Given the description of an element on the screen output the (x, y) to click on. 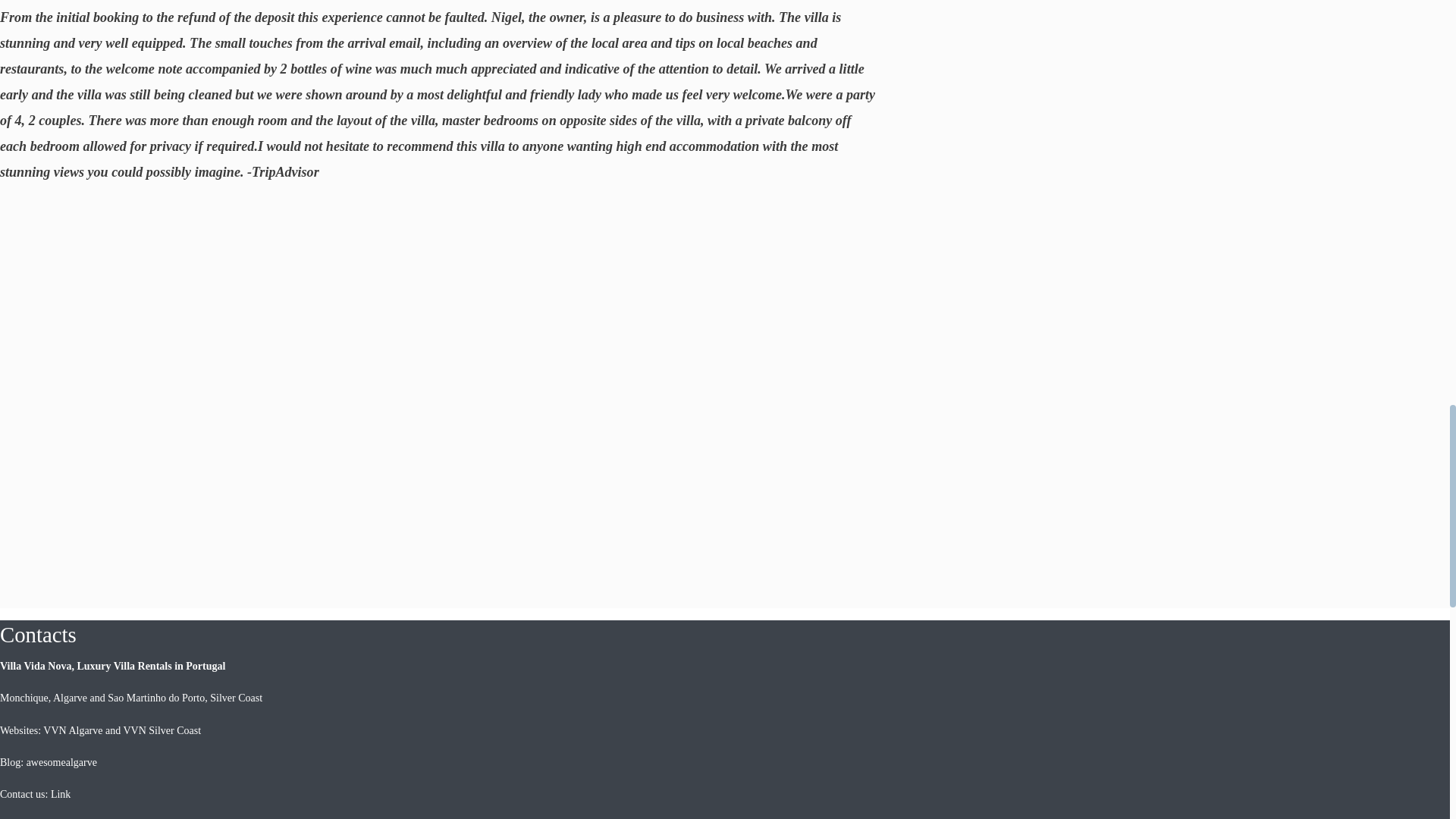
VVN Silver Coast (161, 730)
awesomealgarve (61, 762)
Link (59, 794)
VVN Algarve (72, 730)
